Given the description of an element on the screen output the (x, y) to click on. 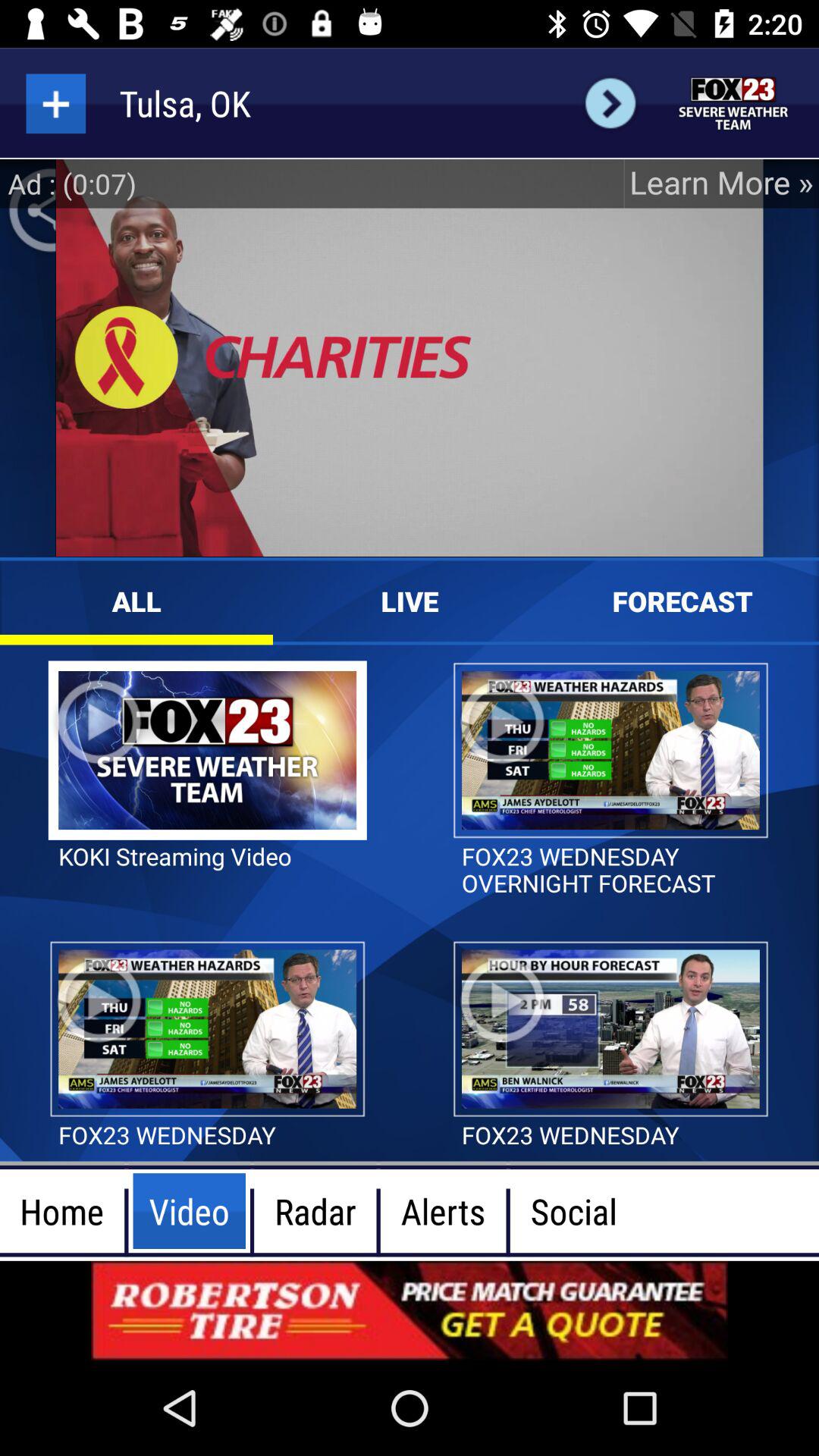
go to weather (734, 103)
